Given the description of an element on the screen output the (x, y) to click on. 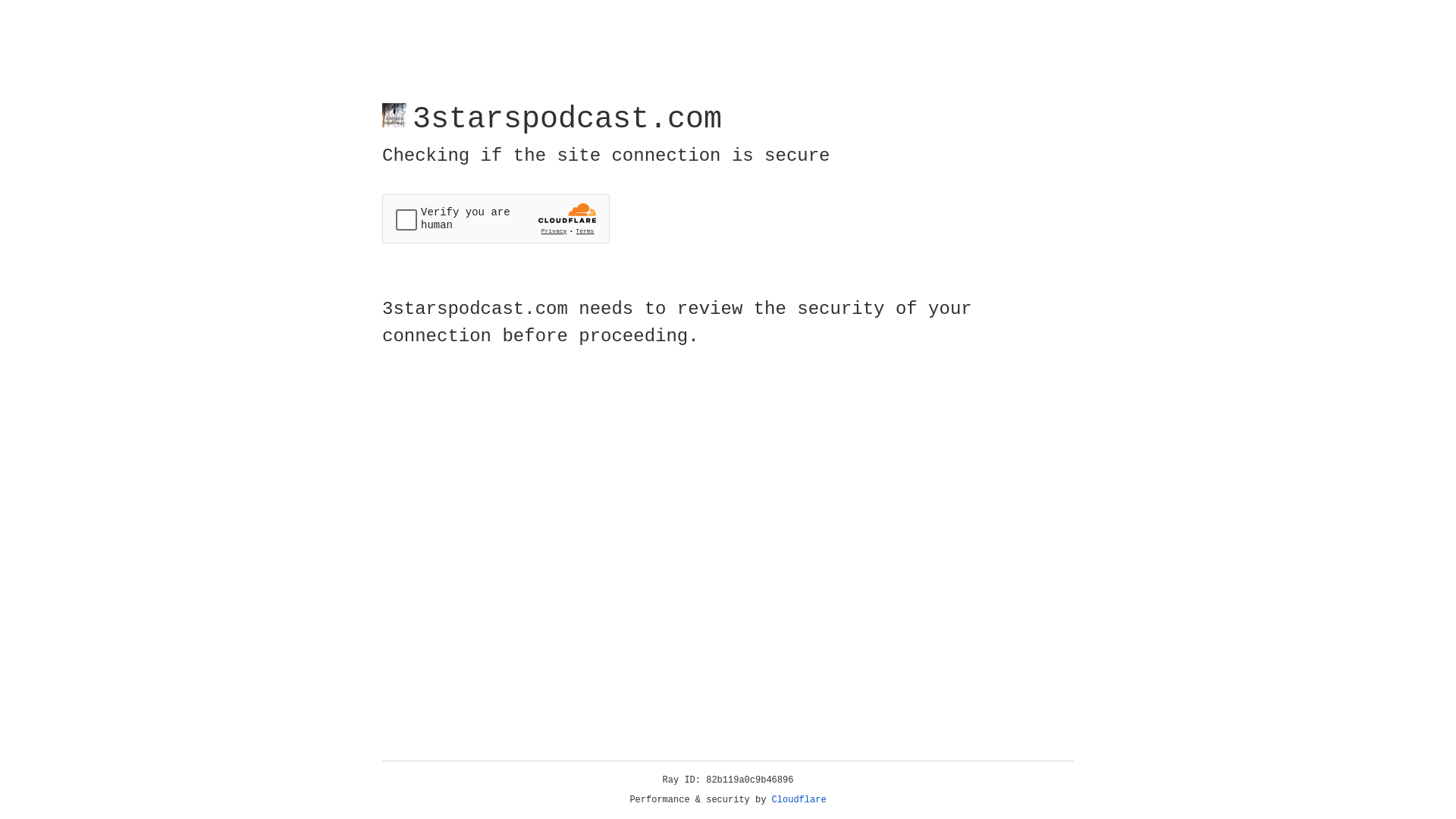
Widget containing a Cloudflare security challenge Element type: hover (495, 218)
Cloudflare Element type: text (798, 799)
